Given the description of an element on the screen output the (x, y) to click on. 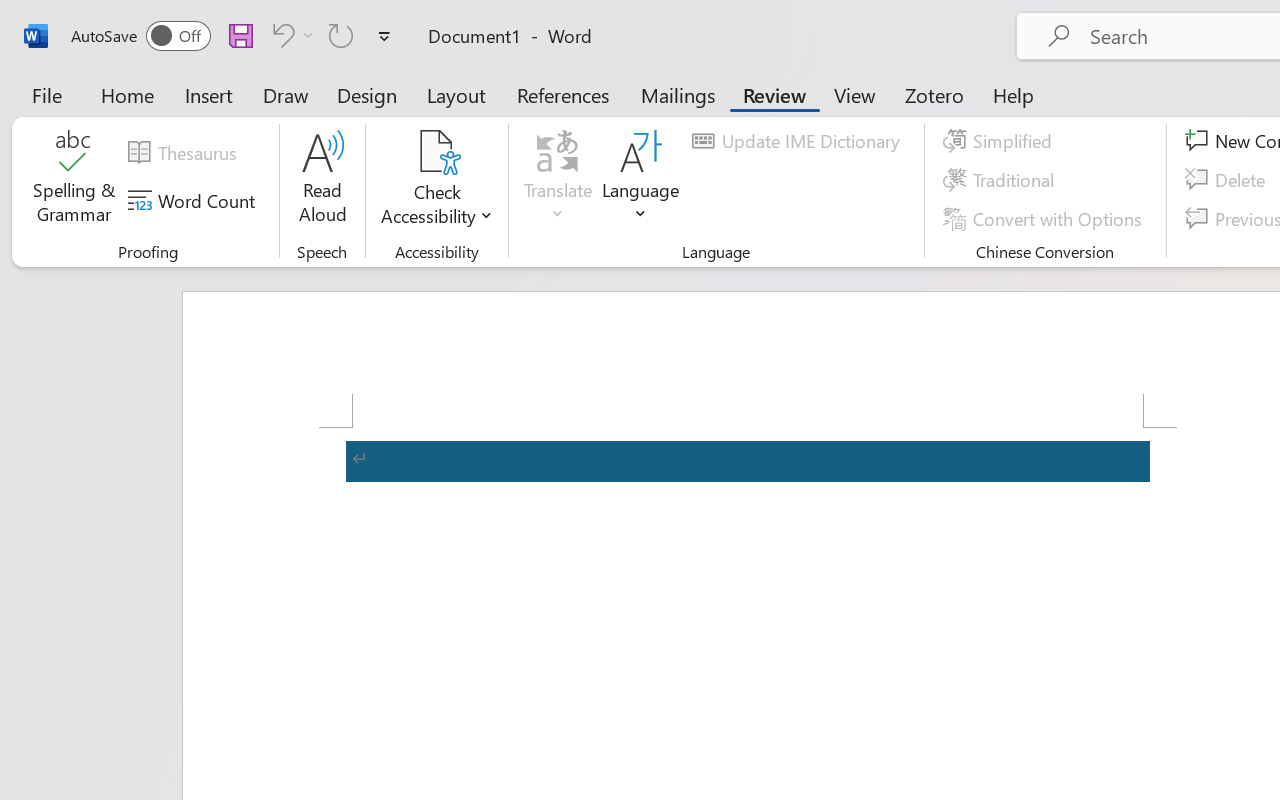
Traditional (1001, 179)
Translate (558, 179)
Undo Apply Quick Style Set (280, 35)
Read Aloud (322, 179)
Spelling & Grammar (74, 180)
